Given the description of an element on the screen output the (x, y) to click on. 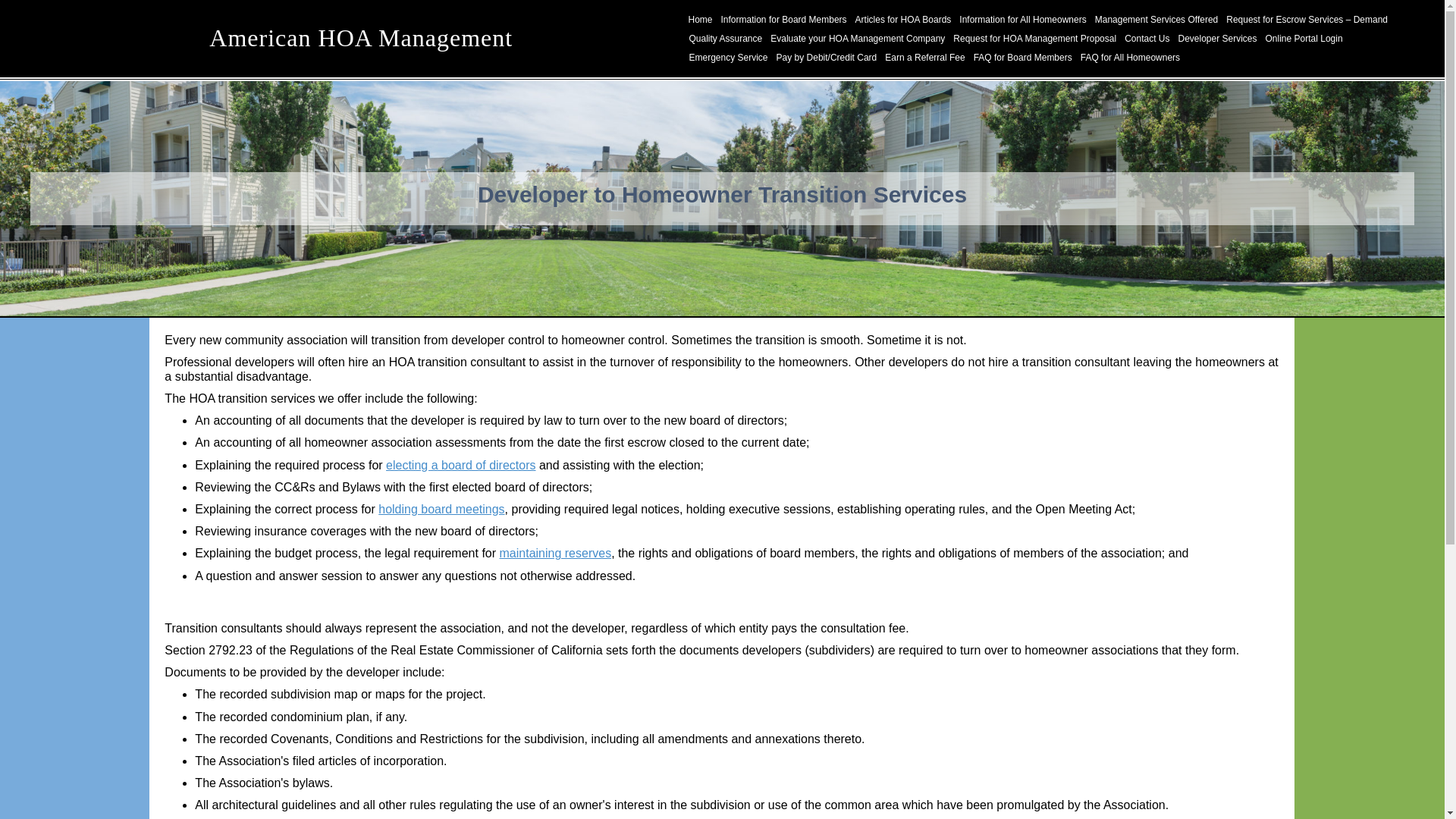
Emergency Service (728, 57)
Contact Us (1147, 37)
Home (700, 19)
electing a board of directors (460, 464)
Management Services Offered (1156, 19)
Earn a Referral Fee (924, 57)
Online Portal Login (1304, 37)
Quality Assurance (726, 37)
maintaining reserves (555, 553)
FAQ for Board Members (1022, 57)
Request for HOA Management Proposal (1034, 37)
Articles for HOA Boards (903, 19)
Evaluate your HOA Management Company (858, 37)
Information for All Homeowners (1022, 19)
FAQ for All Homeowners (1130, 57)
